Given the description of an element on the screen output the (x, y) to click on. 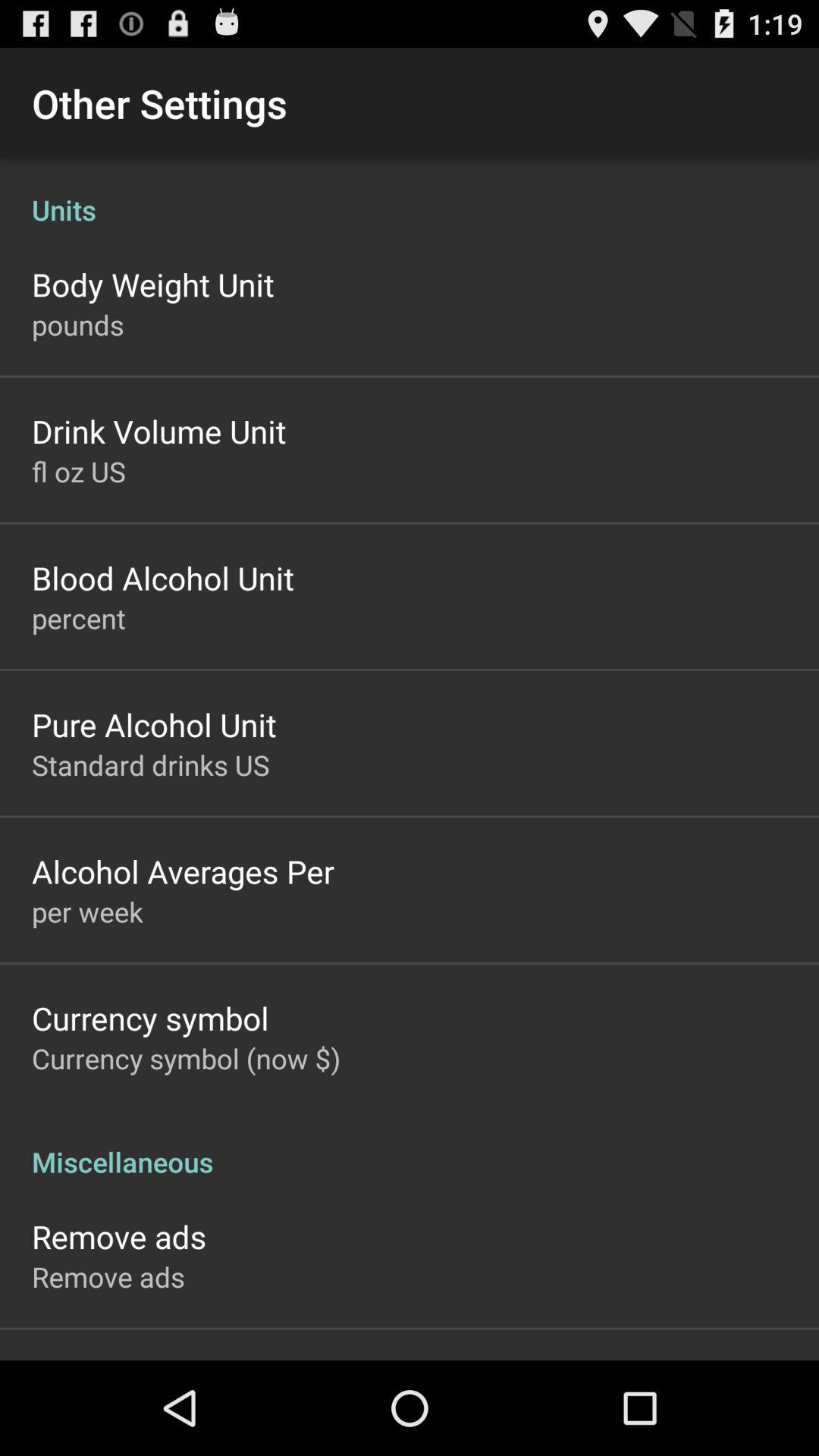
swipe to fl oz us item (78, 471)
